Given the description of an element on the screen output the (x, y) to click on. 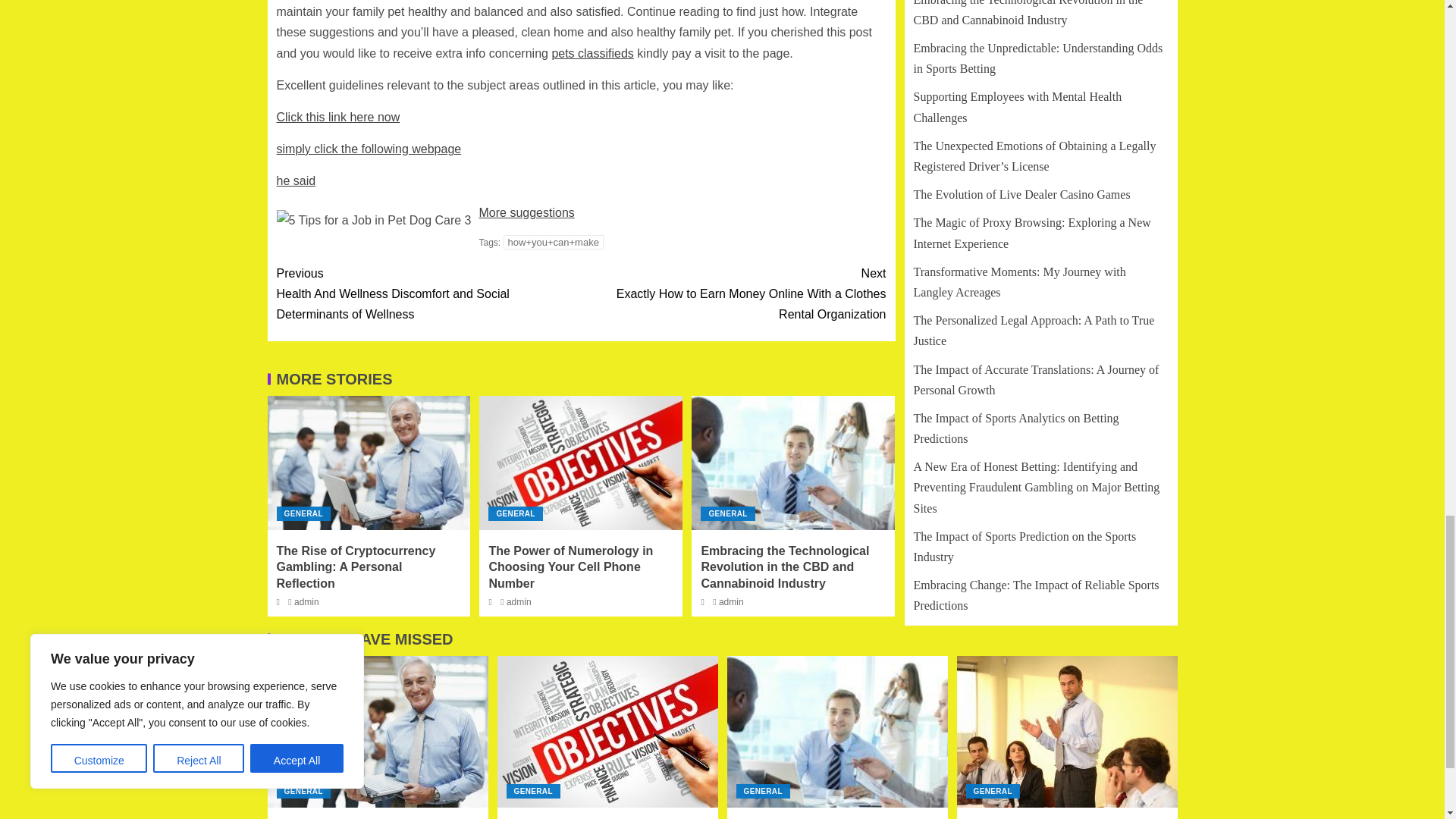
More suggestions (527, 212)
pets classifieds (592, 52)
simply click the following webpage (368, 148)
Click this link here now (337, 116)
he said (295, 180)
